Given the description of an element on the screen output the (x, y) to click on. 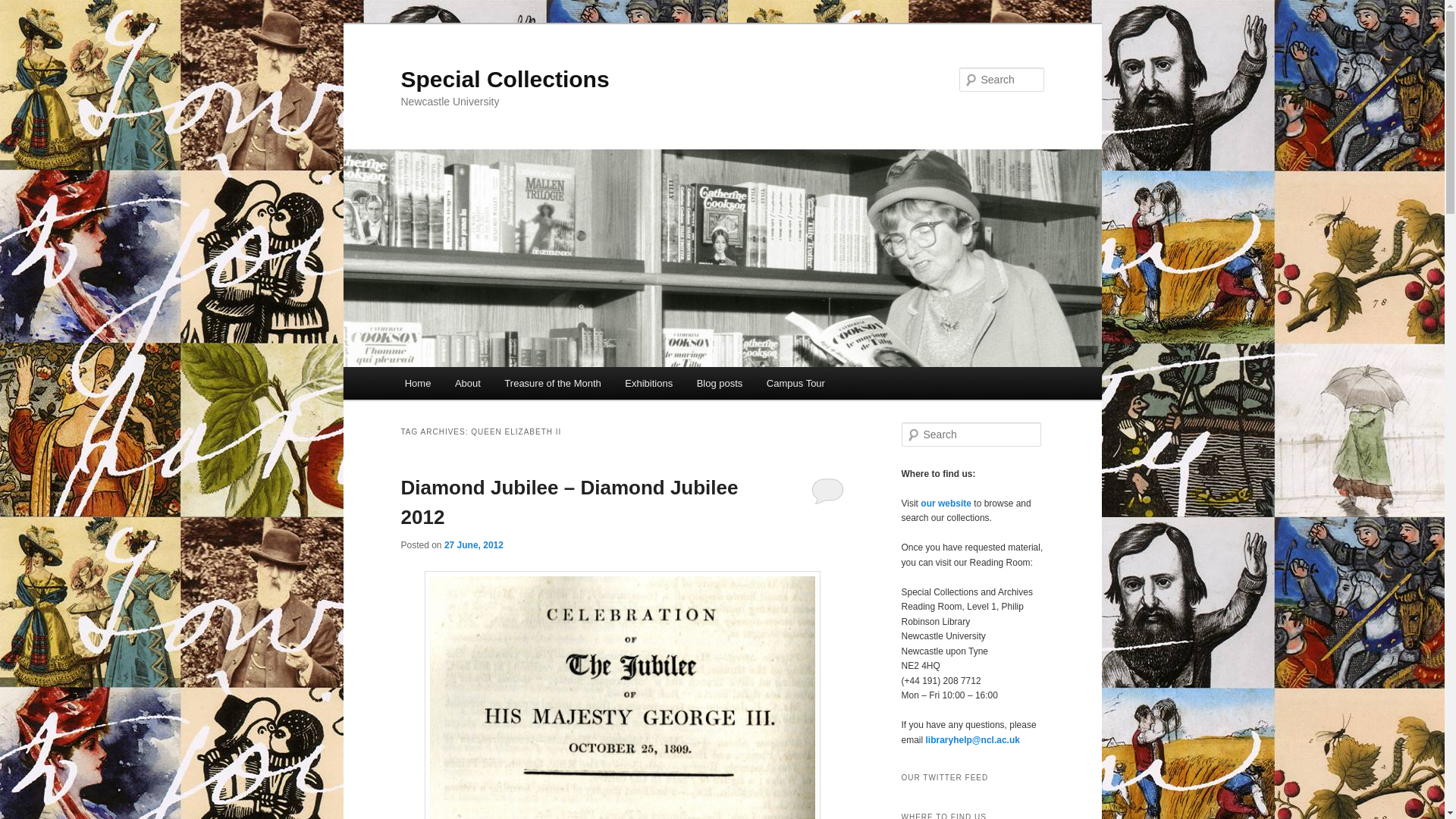
About (467, 382)
OUR TWITTER FEED (972, 777)
Exhibitions (648, 382)
Treasure of the Month (552, 382)
4:27 pm (473, 544)
Home (417, 382)
27 June, 2012 (473, 544)
Special Collections (504, 78)
Search (24, 8)
our website (945, 502)
